Given the description of an element on the screen output the (x, y) to click on. 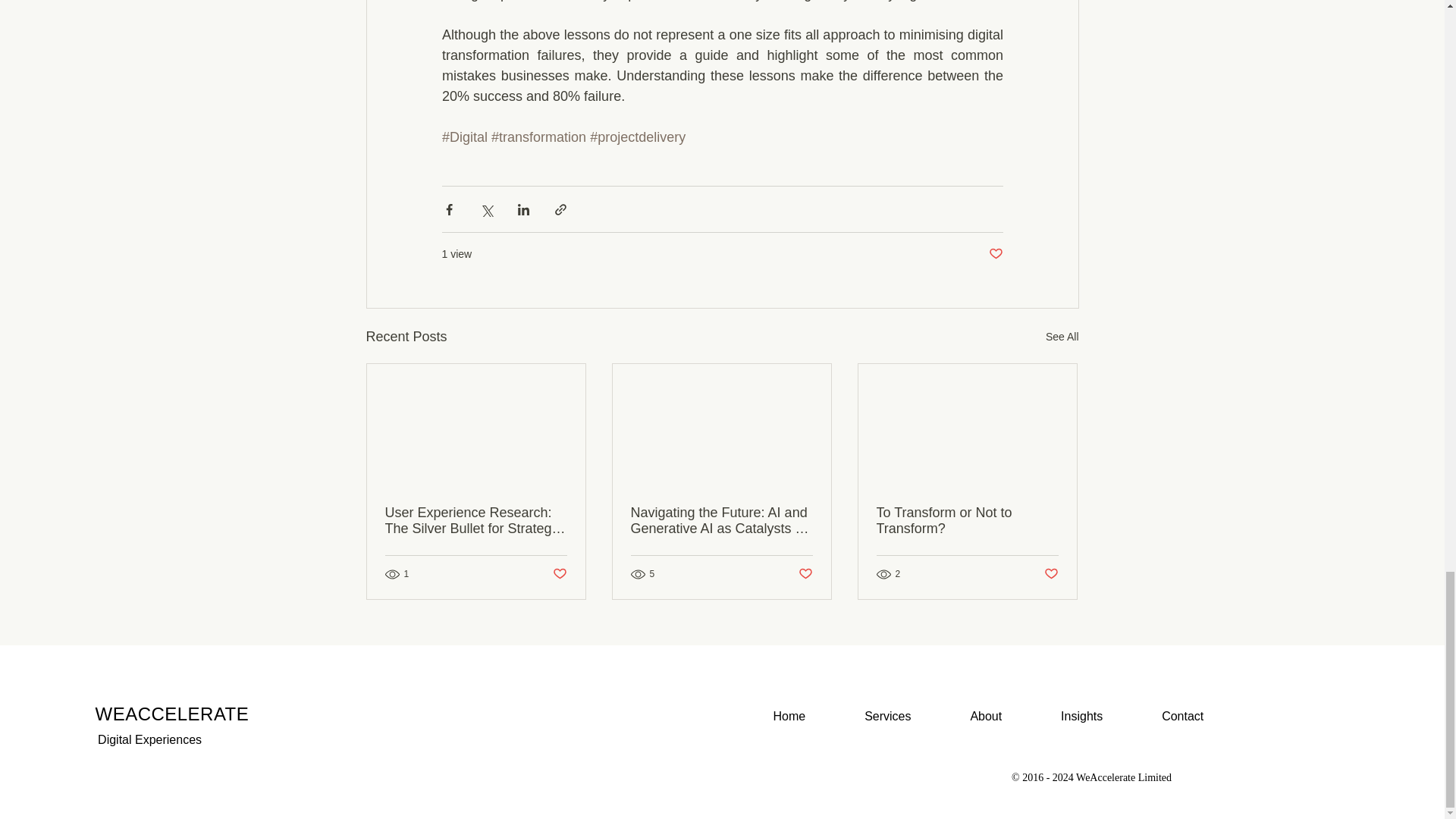
To Transform or Not to Transform? (967, 521)
Post not marked as liked (558, 573)
Post not marked as liked (995, 254)
Services (887, 716)
See All (1061, 336)
Home (789, 716)
Contact (1182, 716)
Post not marked as liked (804, 573)
About (985, 716)
